Given the description of an element on the screen output the (x, y) to click on. 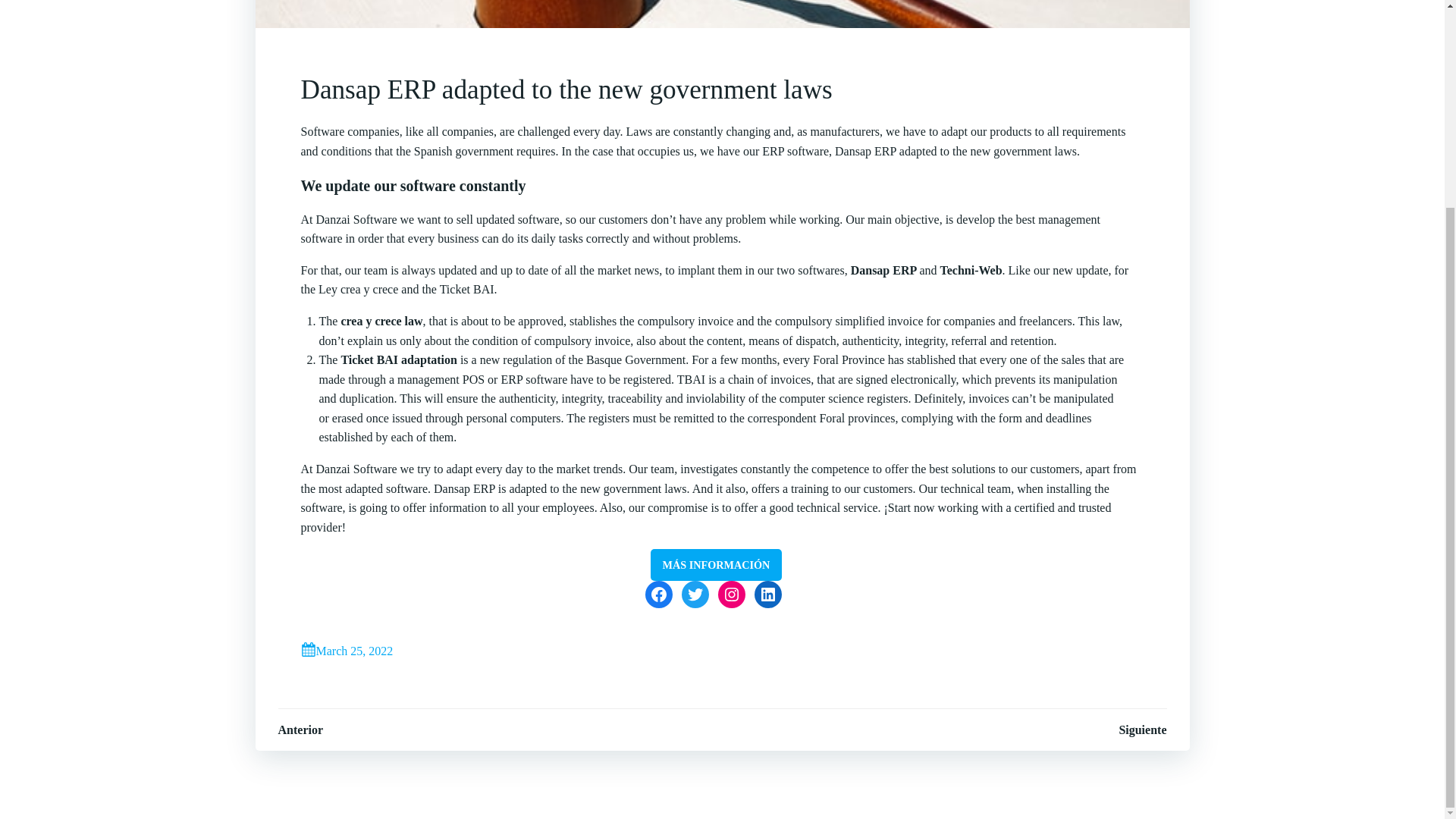
Dansap ERP adapted to the new government laws (720, 90)
Anterior (300, 730)
Facebook (658, 594)
Instagram (730, 594)
LinkedIn (767, 594)
March 25, 2022 (346, 650)
Twitter (694, 594)
Siguiente (1142, 730)
